Given the description of an element on the screen output the (x, y) to click on. 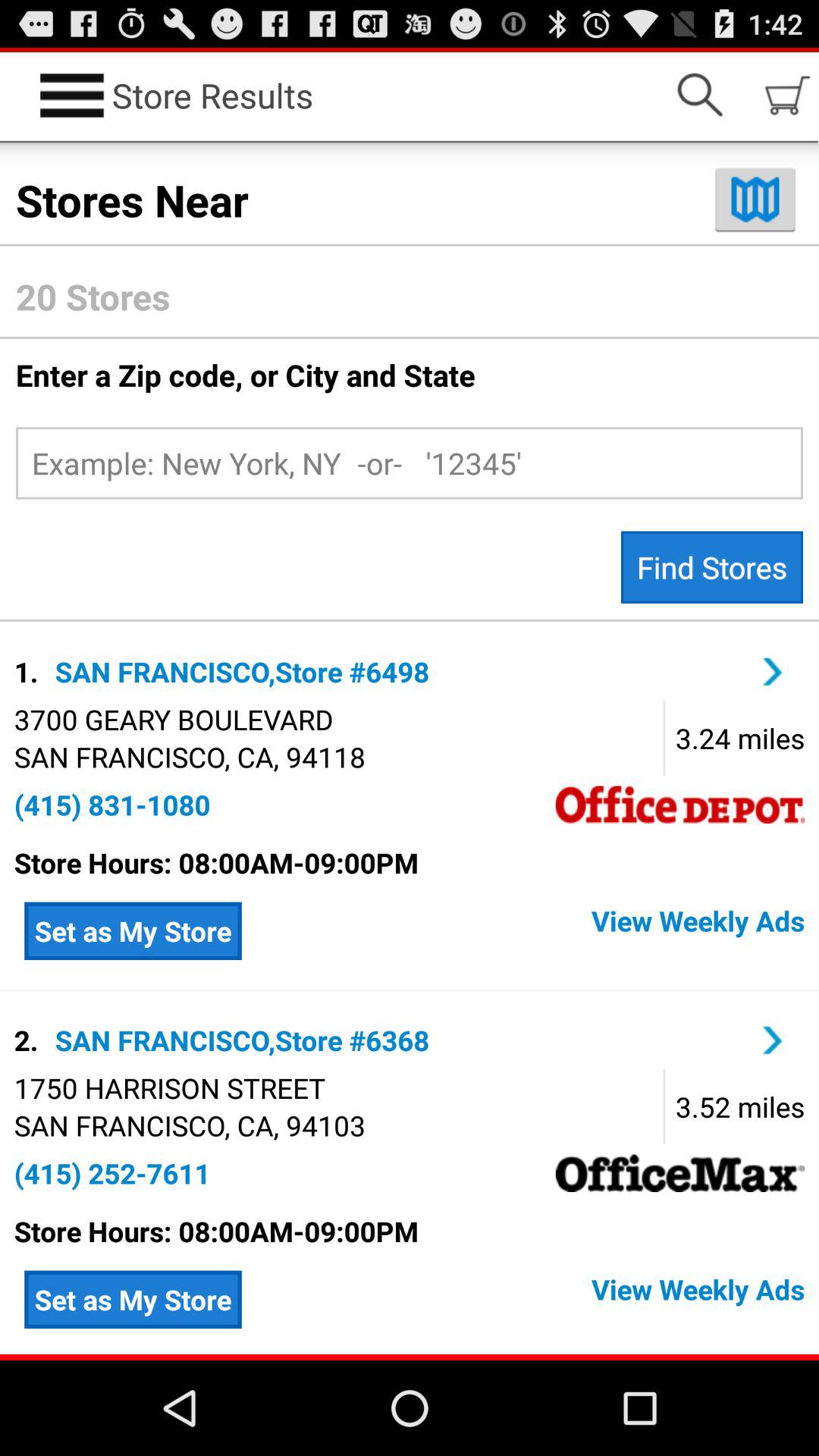
swipe until find stores app (712, 567)
